Given the description of an element on the screen output the (x, y) to click on. 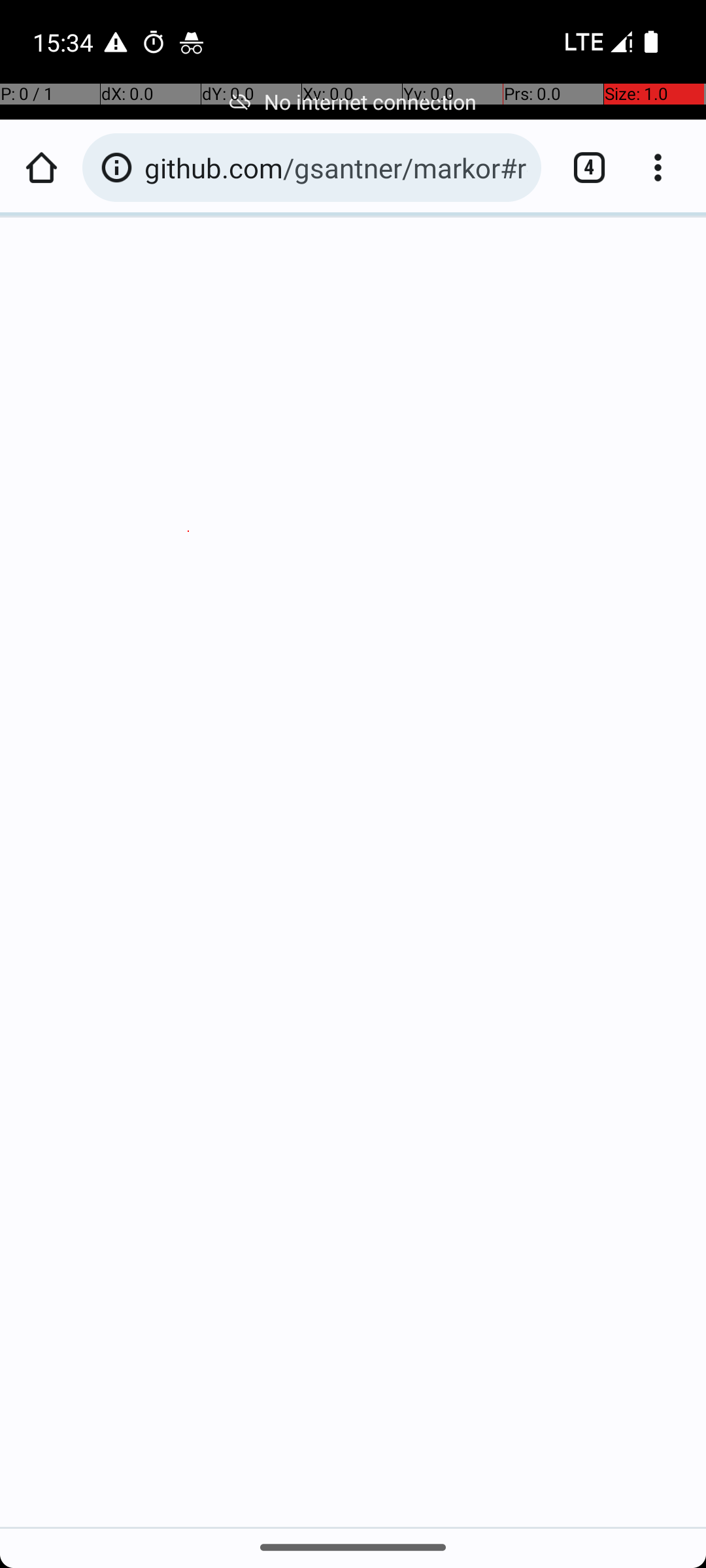
No internet connection Element type: android.widget.TextView (352, 101)
github.com/gsantner/markor#readme Element type: android.widget.EditText (335, 167)
Switch or close tabs Element type: android.widget.ImageButton (582, 167)
